Given the description of an element on the screen output the (x, y) to click on. 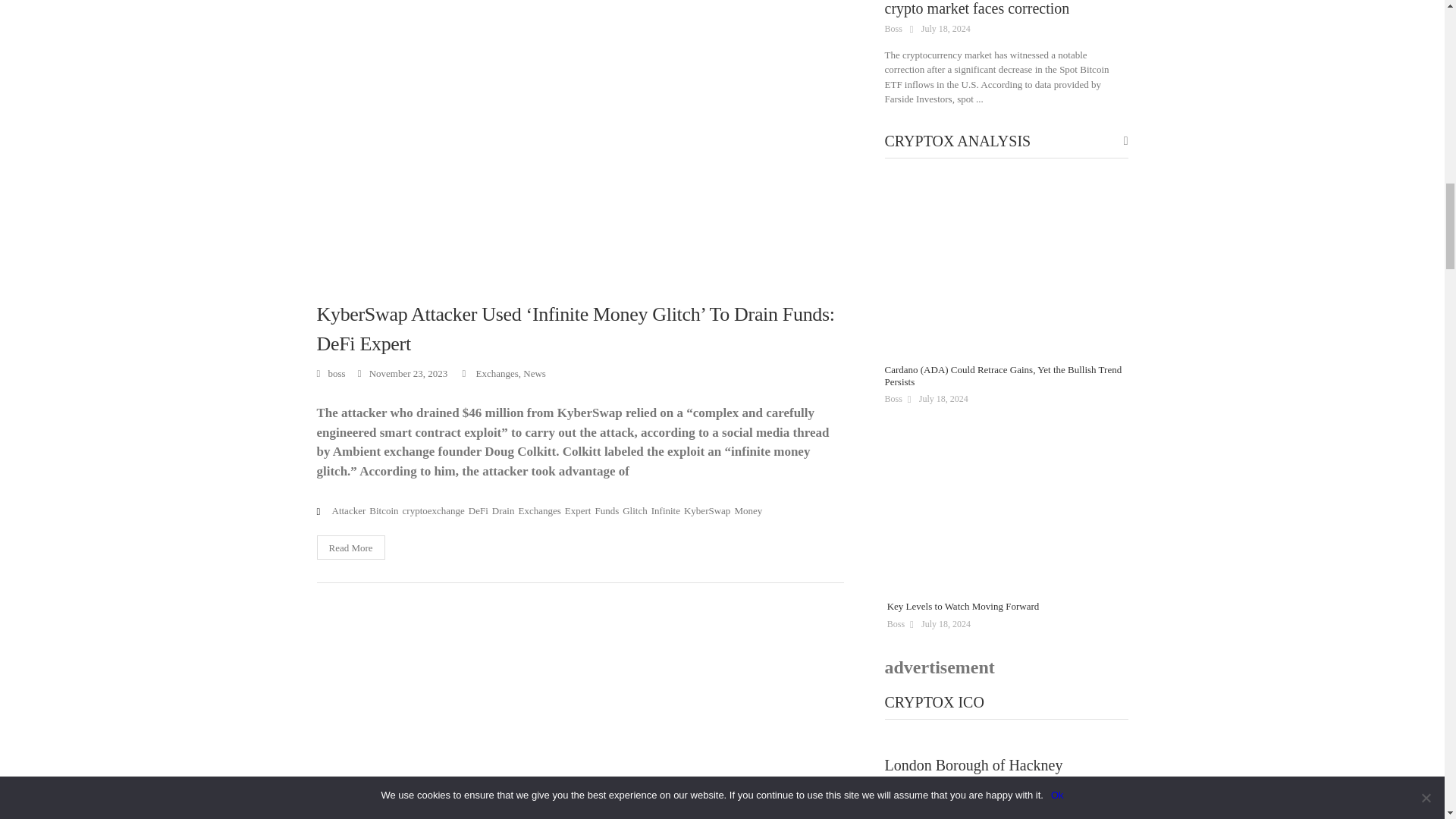
Key Levels to Watch Moving Forward (1008, 504)
View all (1126, 140)
